Given the description of an element on the screen output the (x, y) to click on. 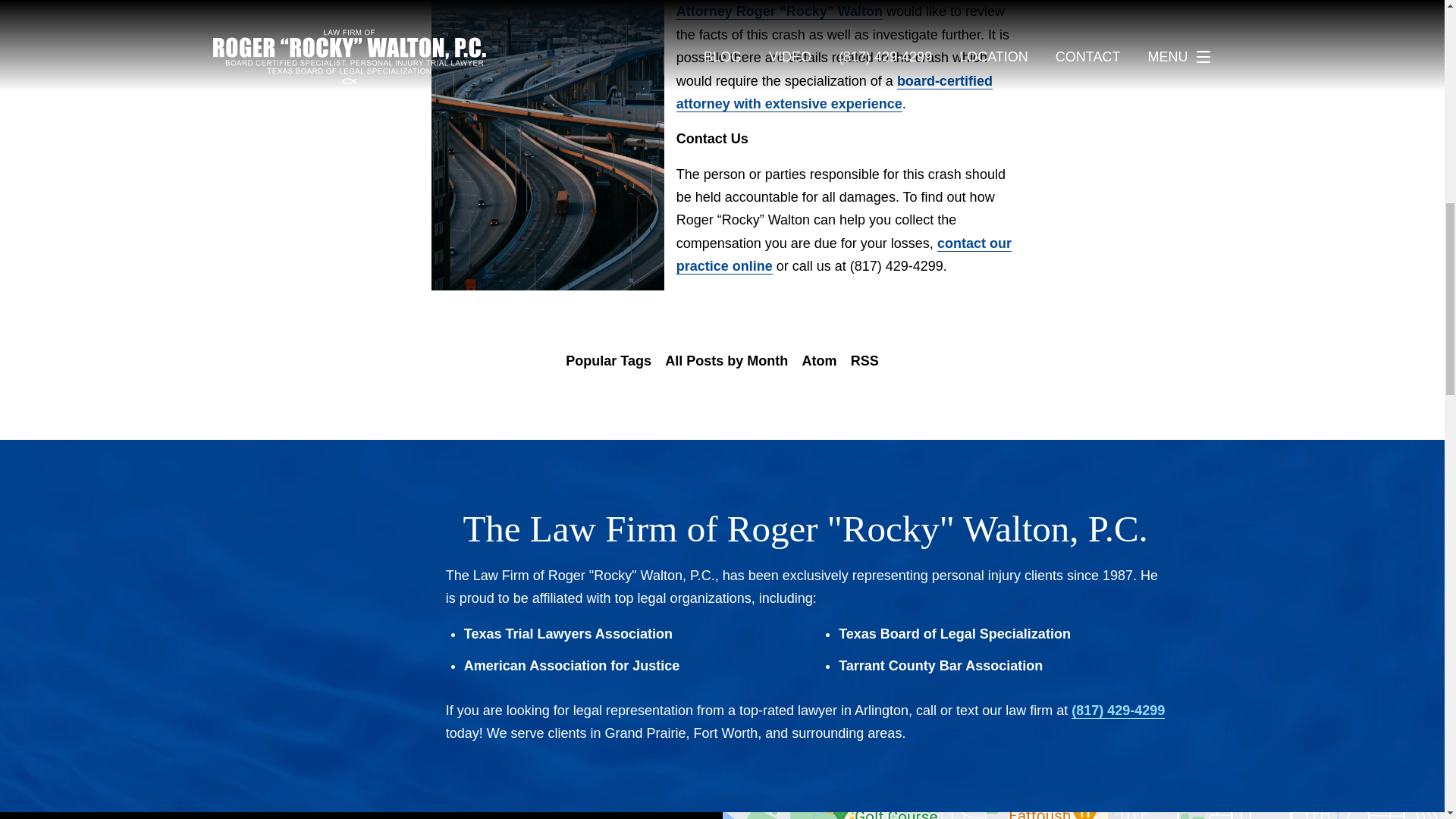
board-certified attorney with extensive experience (834, 92)
contact our practice online (844, 254)
All Posts by Month (726, 360)
Popular Tags (608, 360)
Atom (818, 360)
RSS (864, 360)
